Given the description of an element on the screen output the (x, y) to click on. 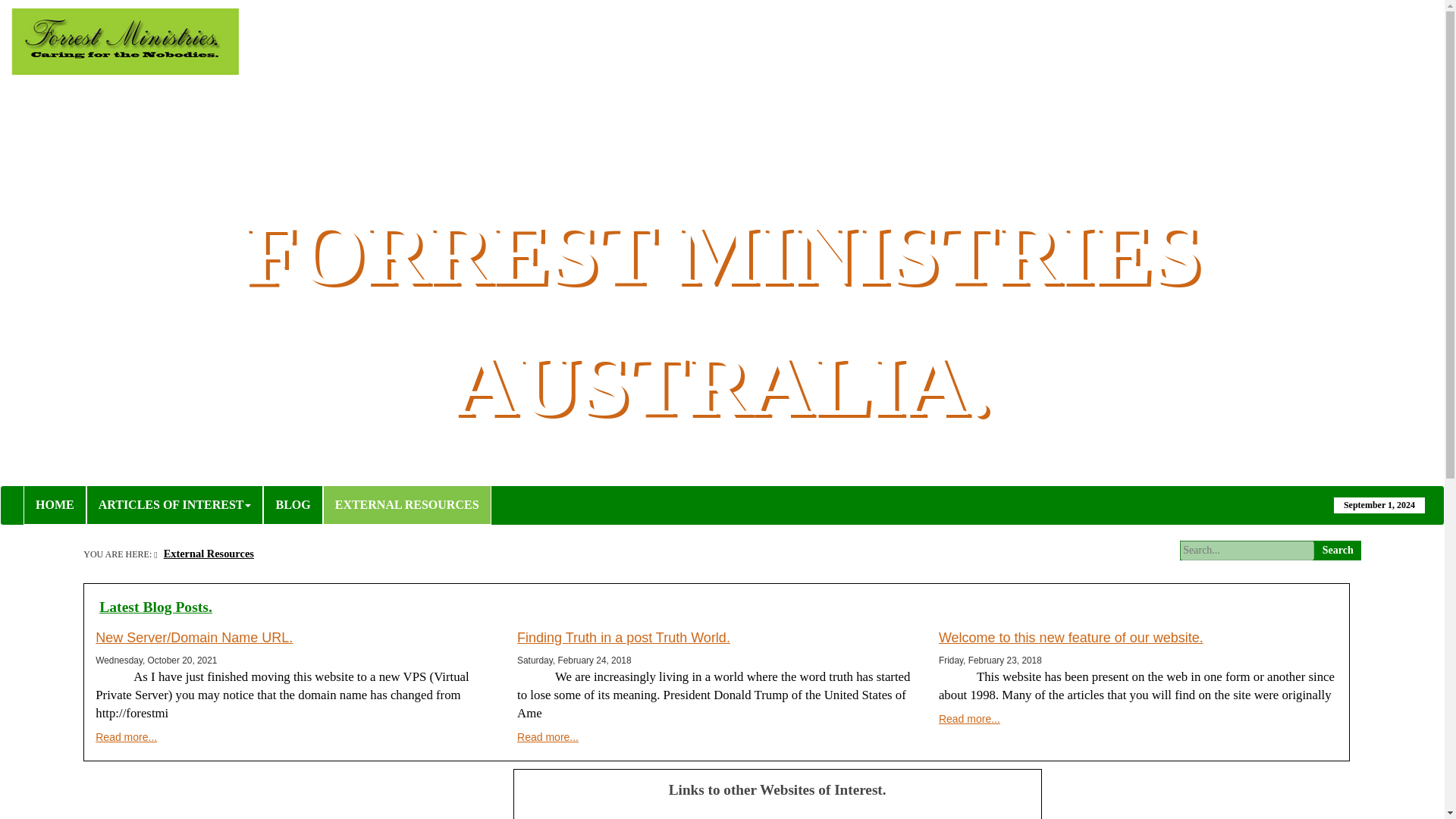
ARTICLES OF INTEREST (174, 505)
Forrest Ministries Australia (240, 41)
Read more... (547, 736)
External Resources (206, 553)
Read more... (126, 736)
BLOG (292, 505)
Search (1337, 549)
Welcome to this new feature of our website. (1071, 637)
Finding Truth in a post Truth World. (623, 637)
EXTERNAL RESOURCES (407, 505)
